Given the description of an element on the screen output the (x, y) to click on. 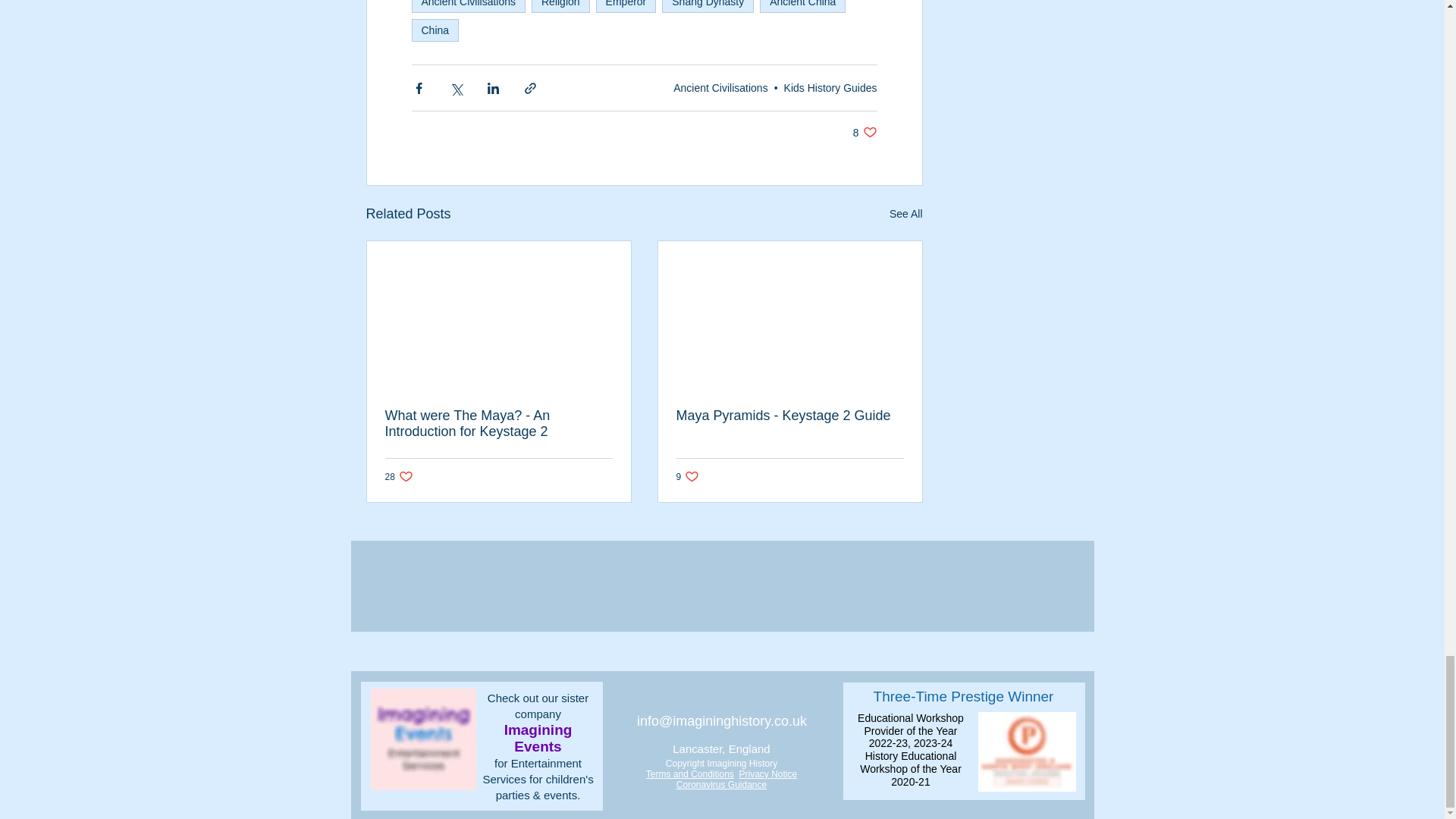
See All (906, 214)
Maya Pyramids - Keystage 2 Guide (790, 415)
Kids History Guides (830, 87)
Ancient China (802, 6)
Ancient Civilisations (720, 87)
Shang Dynasty (865, 132)
Religion (708, 6)
Ancient Civilisations (560, 6)
China (467, 6)
